Given the description of an element on the screen output the (x, y) to click on. 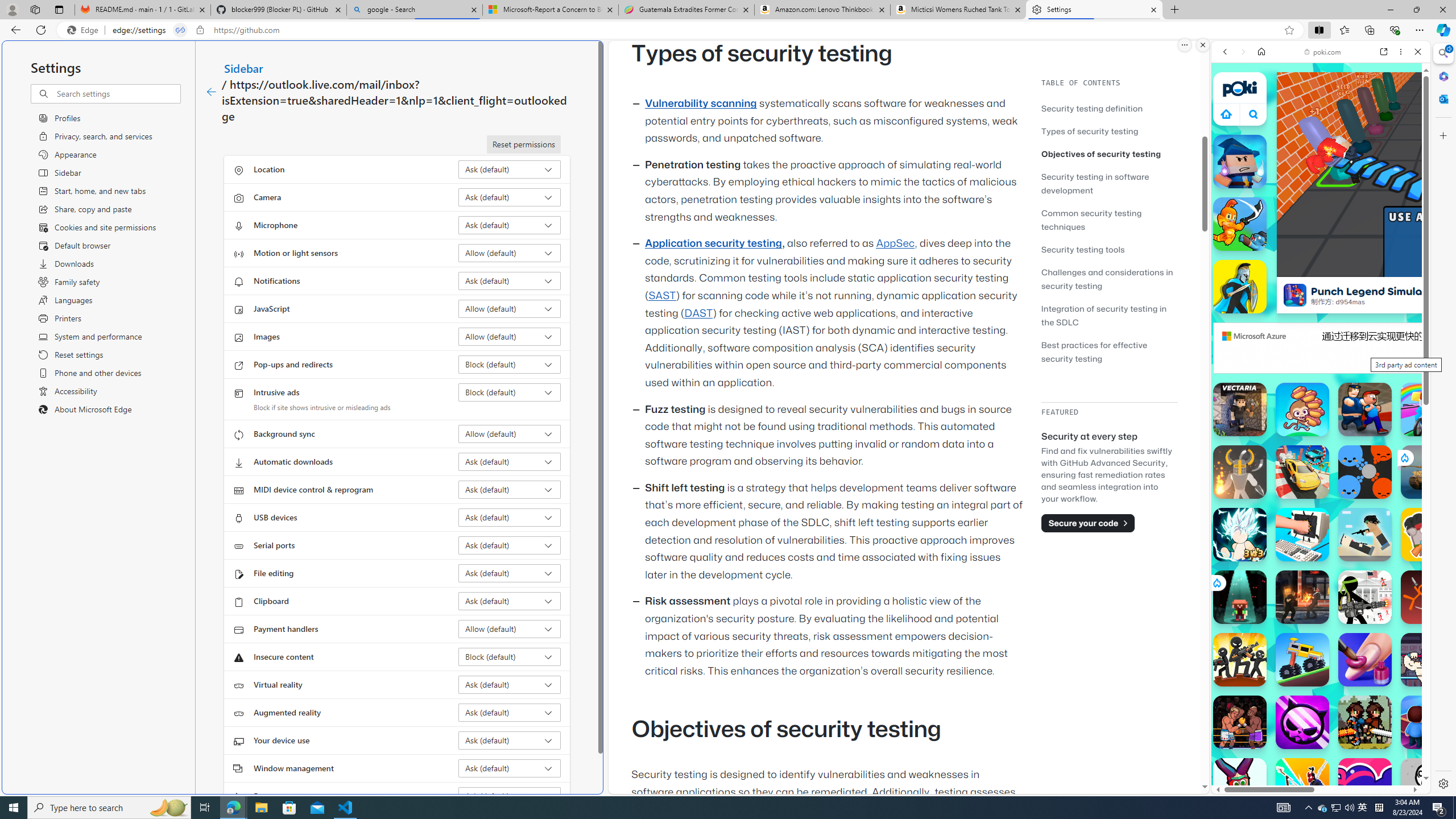
Monkey Mart (1302, 409)
Tabs in split screen (180, 29)
Hills of Steel (1264, 580)
USB devices Ask (default) (509, 517)
Big Shot Boxing (1239, 722)
Stickman Fight: Ragdoll (1427, 597)
Camera Ask (default) (509, 197)
My Perfect Hotel (1427, 722)
Poki - Free Online Games - Play Now! (1315, 175)
Combat Reloaded (1349, 580)
We Become What We Behold We Become What We Behold (1427, 784)
